Given the description of an element on the screen output the (x, y) to click on. 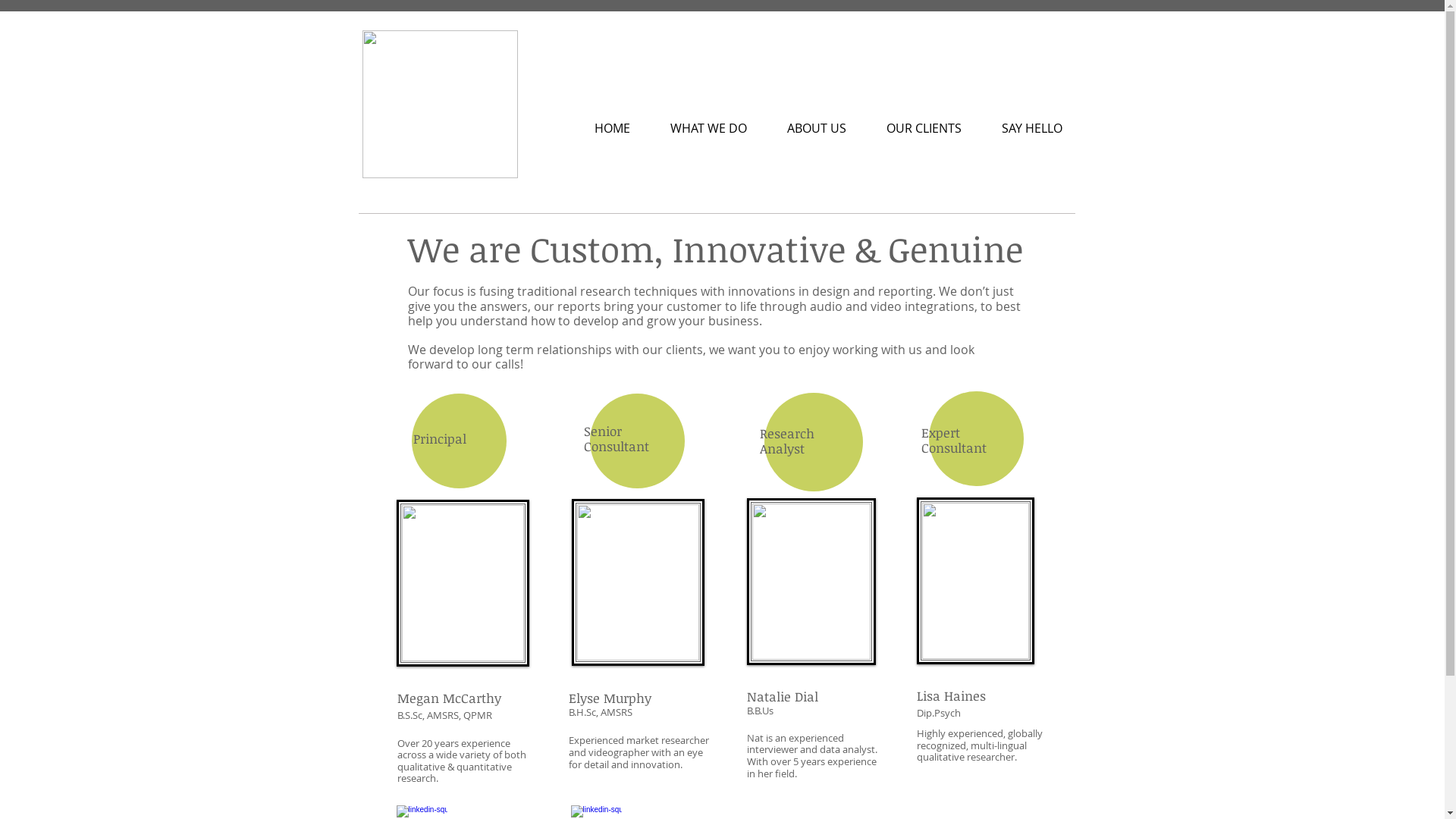
OUR CLIENTS Element type: text (923, 127)
SAY HELLO Element type: text (1031, 127)
HOME Element type: text (612, 127)
ABOUT US Element type: text (816, 127)
WHAT WE DO Element type: text (708, 127)
